Given the description of an element on the screen output the (x, y) to click on. 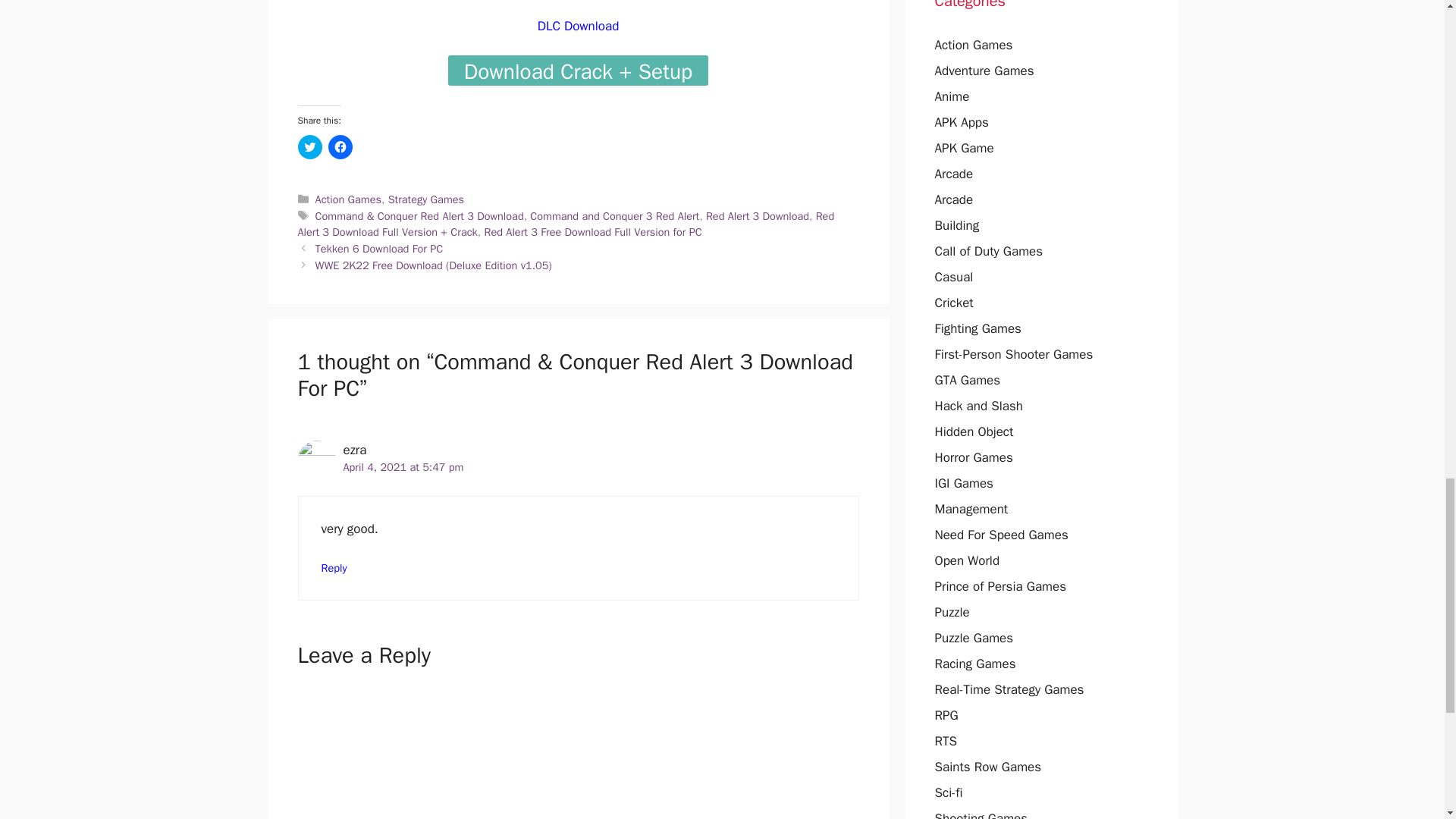
Click to share on Twitter (309, 146)
Tekken 6 Download For PC (379, 248)
Command and Conquer 3 Red Alert (613, 215)
Strategy Games (426, 199)
Red Alert 3 Download (757, 215)
Red Alert 3 Free Download Full Version for PC (592, 232)
DLC Download (578, 26)
Action Games (348, 199)
Comment Form (578, 752)
Click to share on Facebook (339, 146)
